Given the description of an element on the screen output the (x, y) to click on. 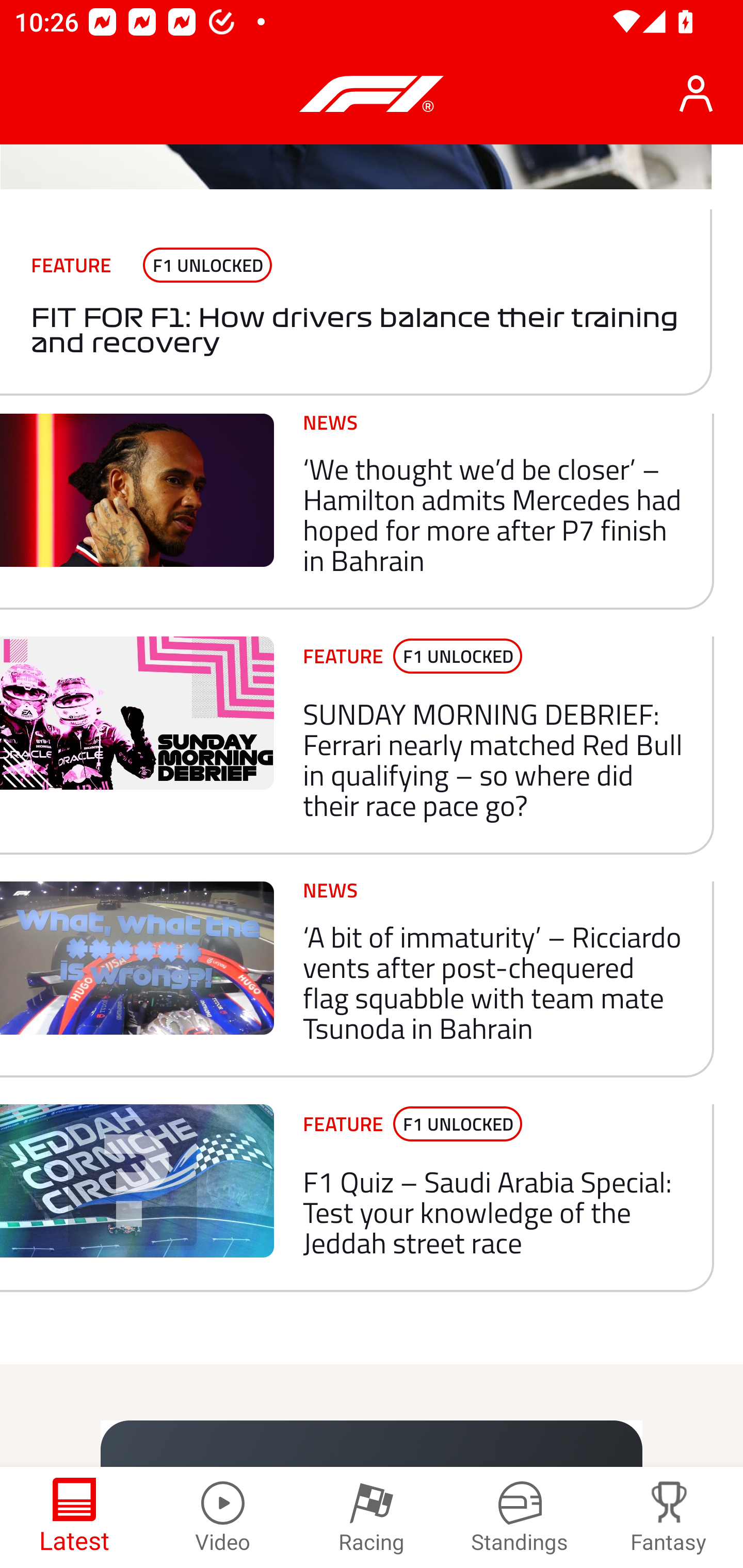
Video (222, 1517)
Racing (371, 1517)
Standings (519, 1517)
Fantasy (668, 1517)
